Given the description of an element on the screen output the (x, y) to click on. 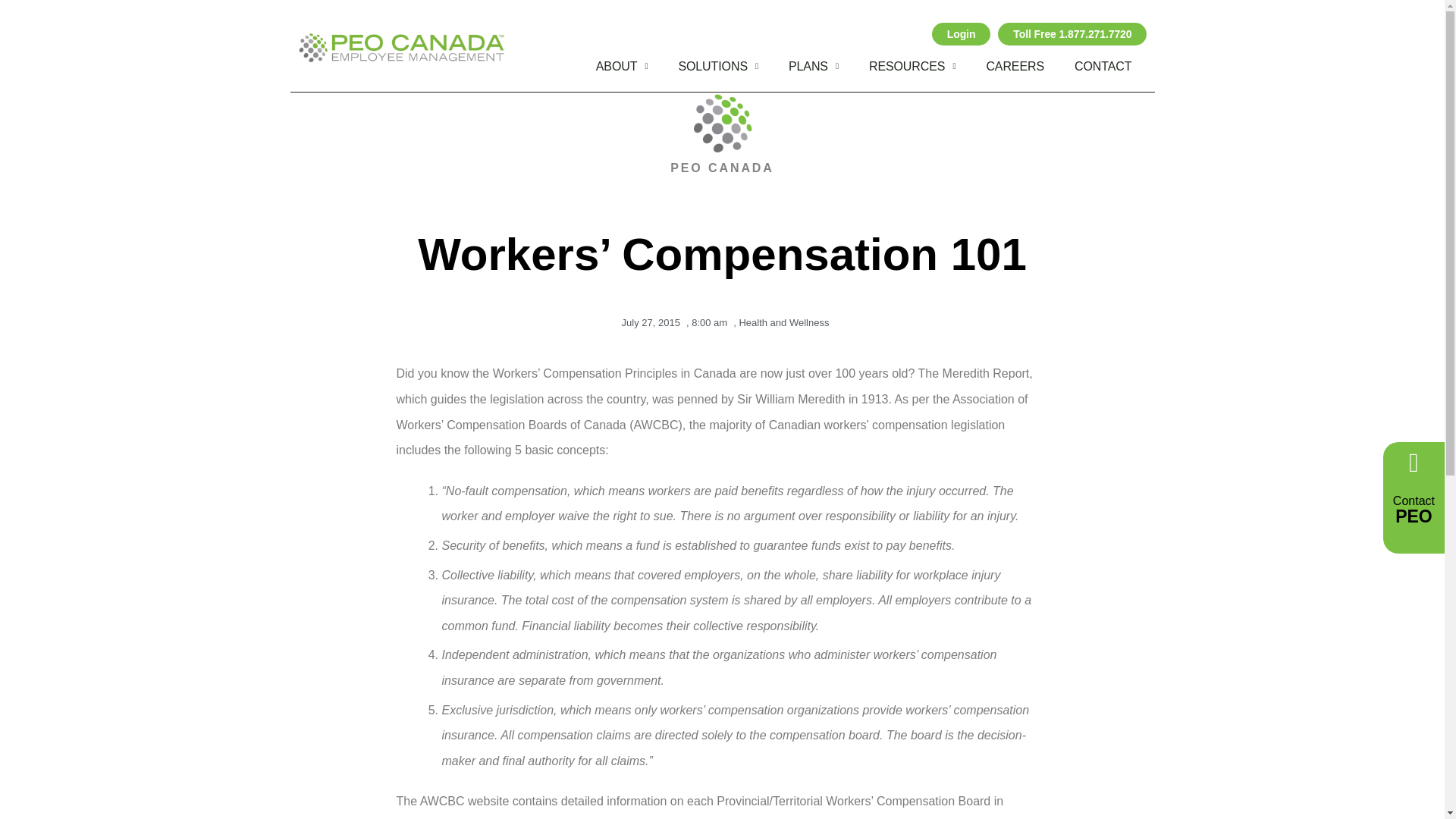
CONTACT (1103, 66)
CAREERS (1015, 66)
RESOURCES (912, 66)
Login (961, 33)
SOLUTIONS (717, 66)
PLANS (813, 66)
Toll Free 1.877.271.7720 (1072, 33)
ABOUT (621, 66)
